Given the description of an element on the screen output the (x, y) to click on. 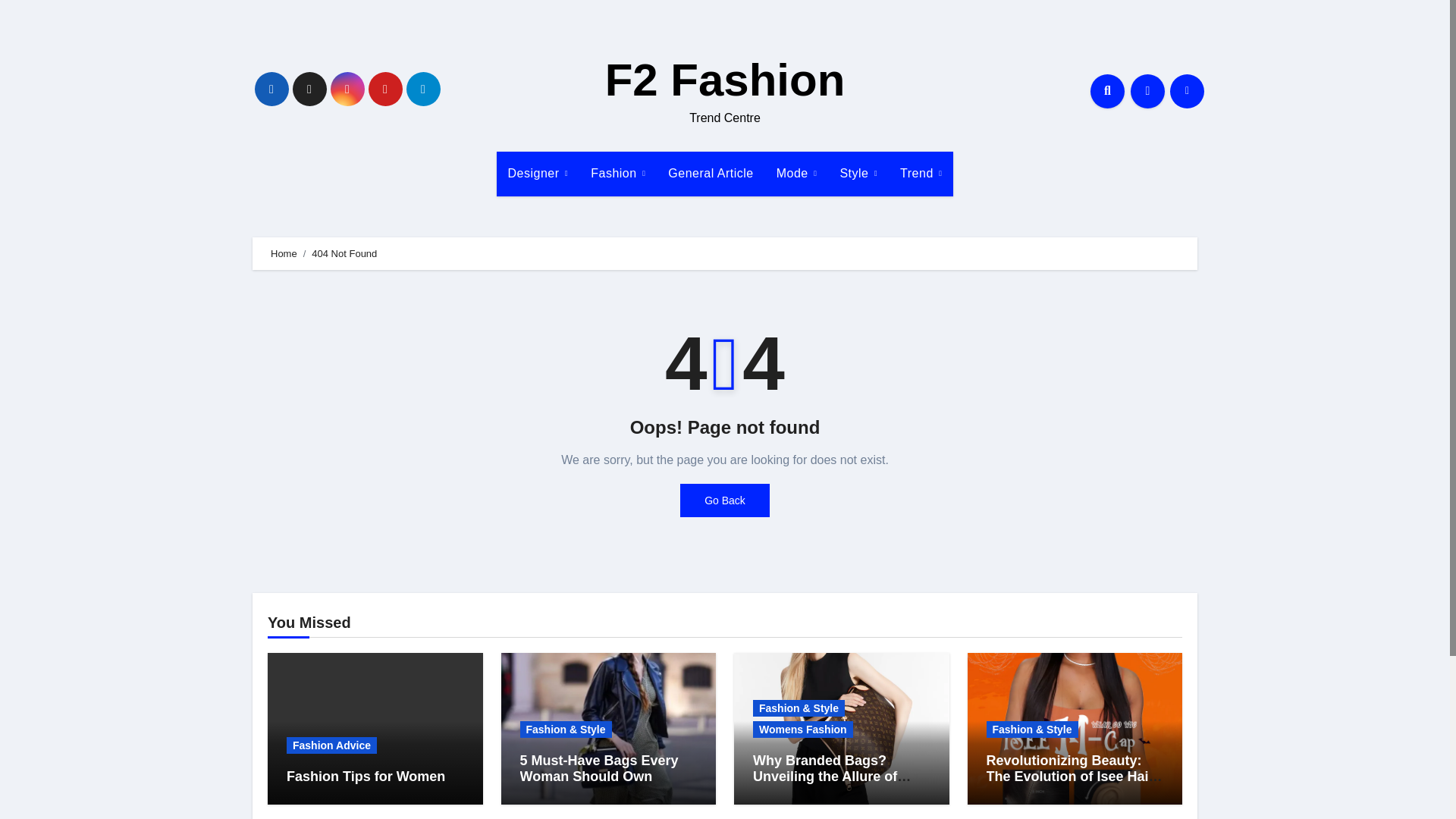
Mode (796, 173)
Designer (537, 173)
Mode (796, 173)
General Article (710, 173)
Fashion (617, 173)
Designer (537, 173)
Home (283, 253)
Go Back (724, 500)
Style (858, 173)
Style (858, 173)
General Article (710, 173)
Trend (920, 173)
Fashion (617, 173)
F2 Fashion (725, 79)
